Given the description of an element on the screen output the (x, y) to click on. 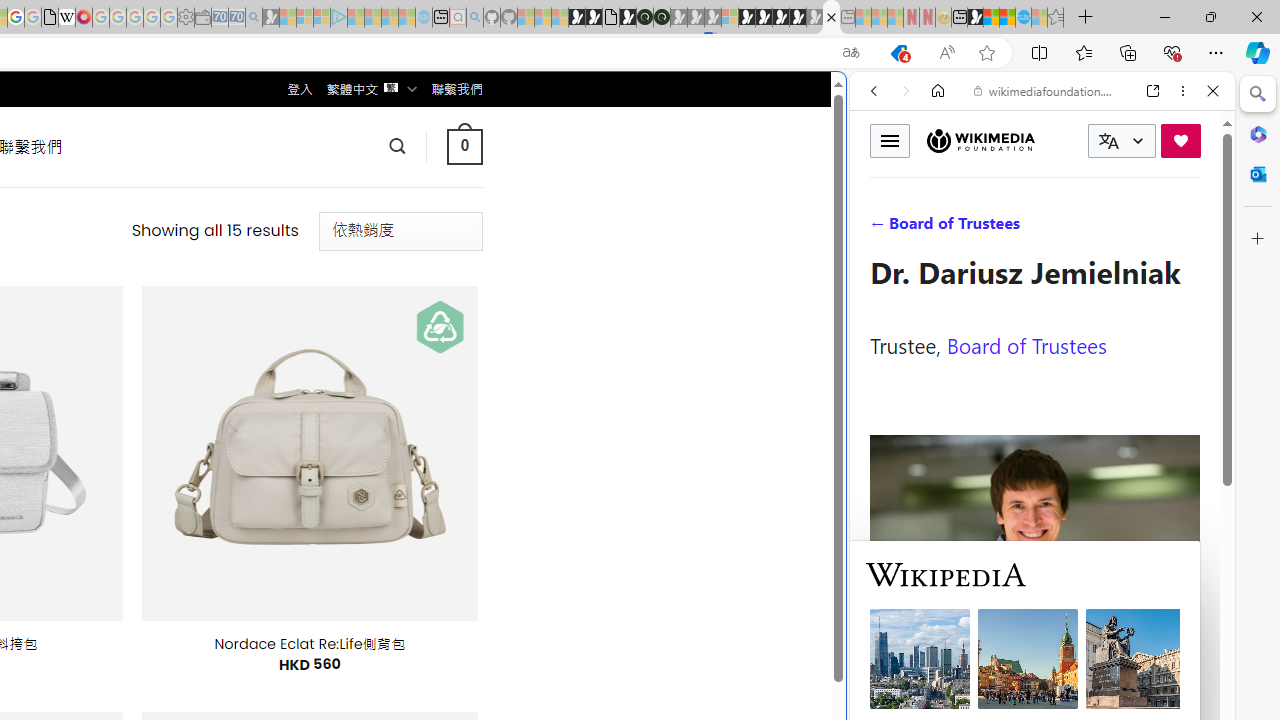
Bing Real Estate - Home sales and rental listings - Sleeping (253, 17)
Donate now (1180, 140)
  0   (464, 146)
Play Cave FRVR in your browser | Games from Microsoft Start (343, 426)
 0  (464, 146)
SEARCH TOOLS (1093, 228)
Target page - Wikipedia (66, 17)
